Given the description of an element on the screen output the (x, y) to click on. 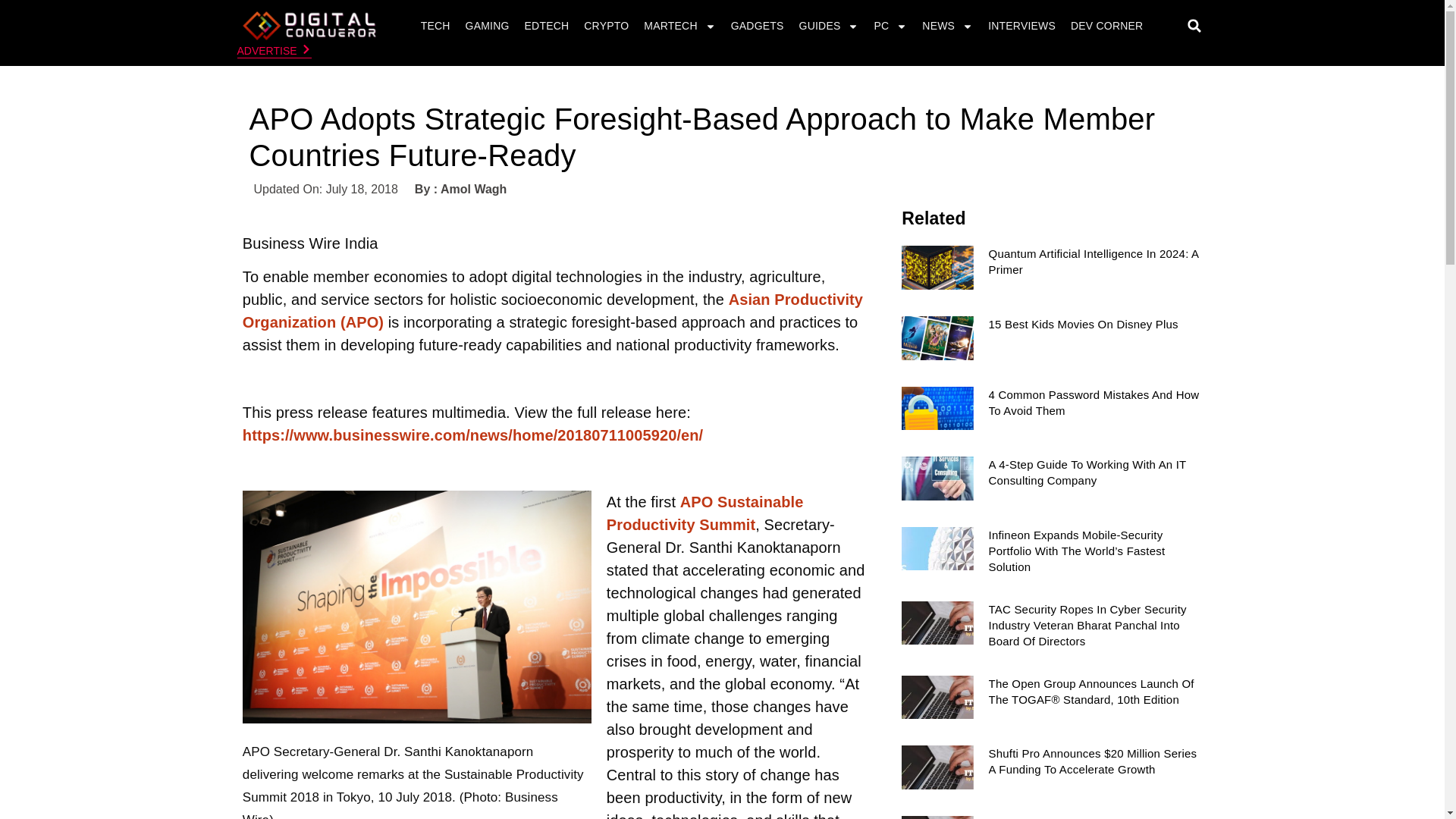
EDTECH (547, 26)
DEV CORNER (1107, 26)
NEWS (947, 26)
GAMING (487, 26)
GADGETS (756, 26)
MARTECH (679, 26)
CRYPTO (605, 26)
PC (890, 26)
TECH (435, 26)
GUIDES (829, 26)
